Given the description of an element on the screen output the (x, y) to click on. 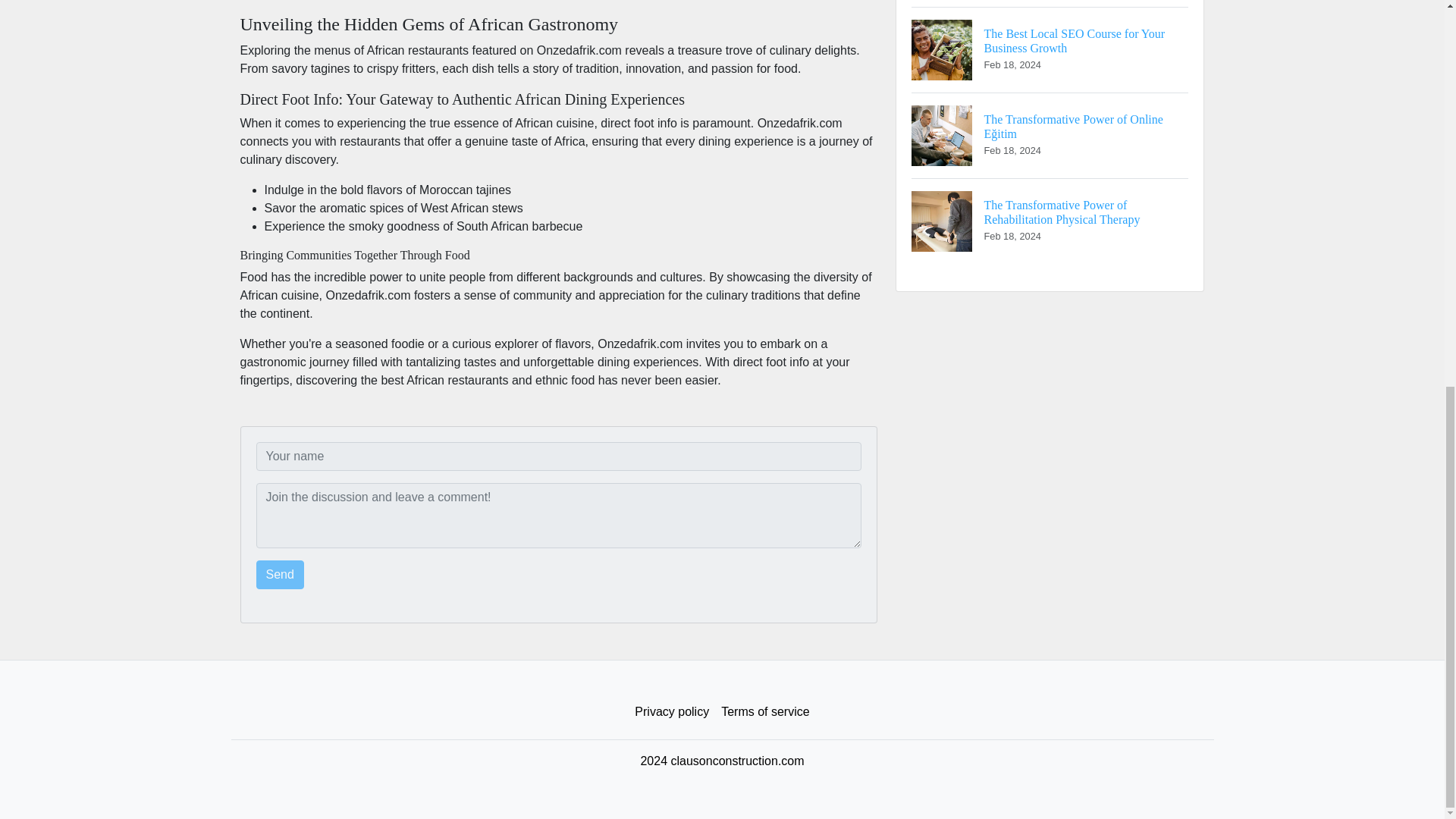
Terms of service (764, 711)
Privacy policy (671, 711)
Send (280, 574)
Send (280, 574)
